Given the description of an element on the screen output the (x, y) to click on. 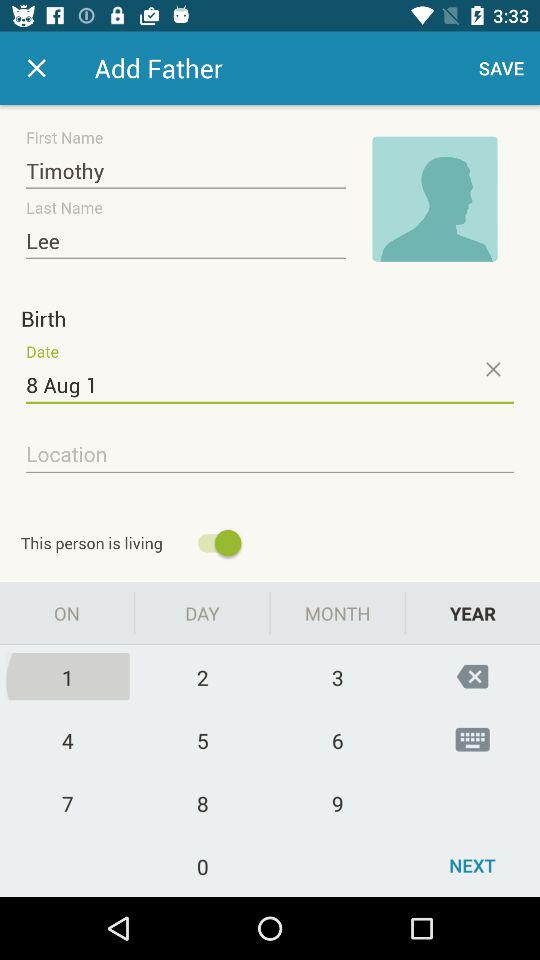
close tab (36, 68)
